Given the description of an element on the screen output the (x, y) to click on. 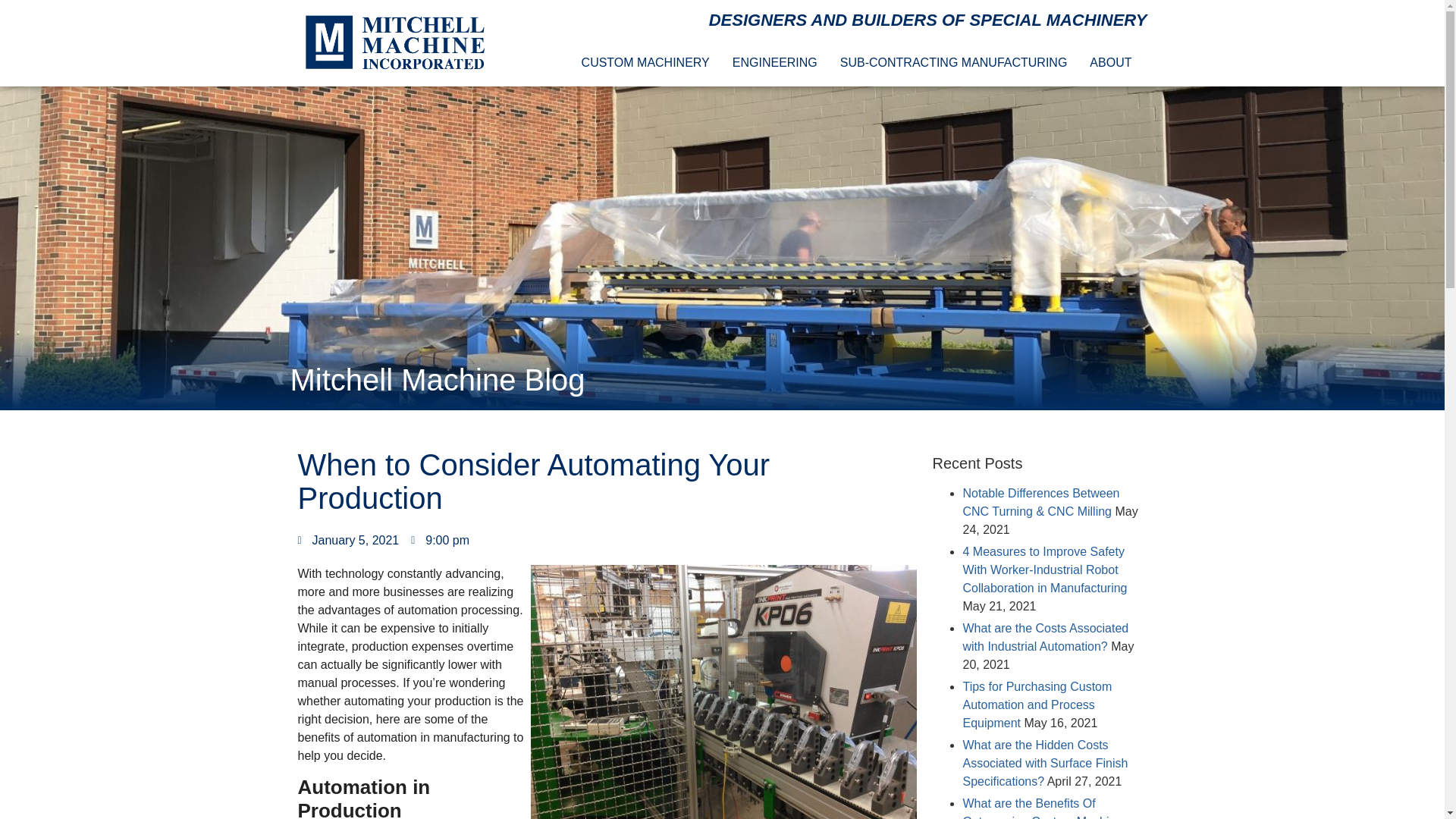
ENGINEERING (778, 62)
CUSTOM MACHINERY (649, 62)
ABOUT (1114, 62)
SUB-CONTRACTING MANUFACTURING (957, 62)
